Given the description of an element on the screen output the (x, y) to click on. 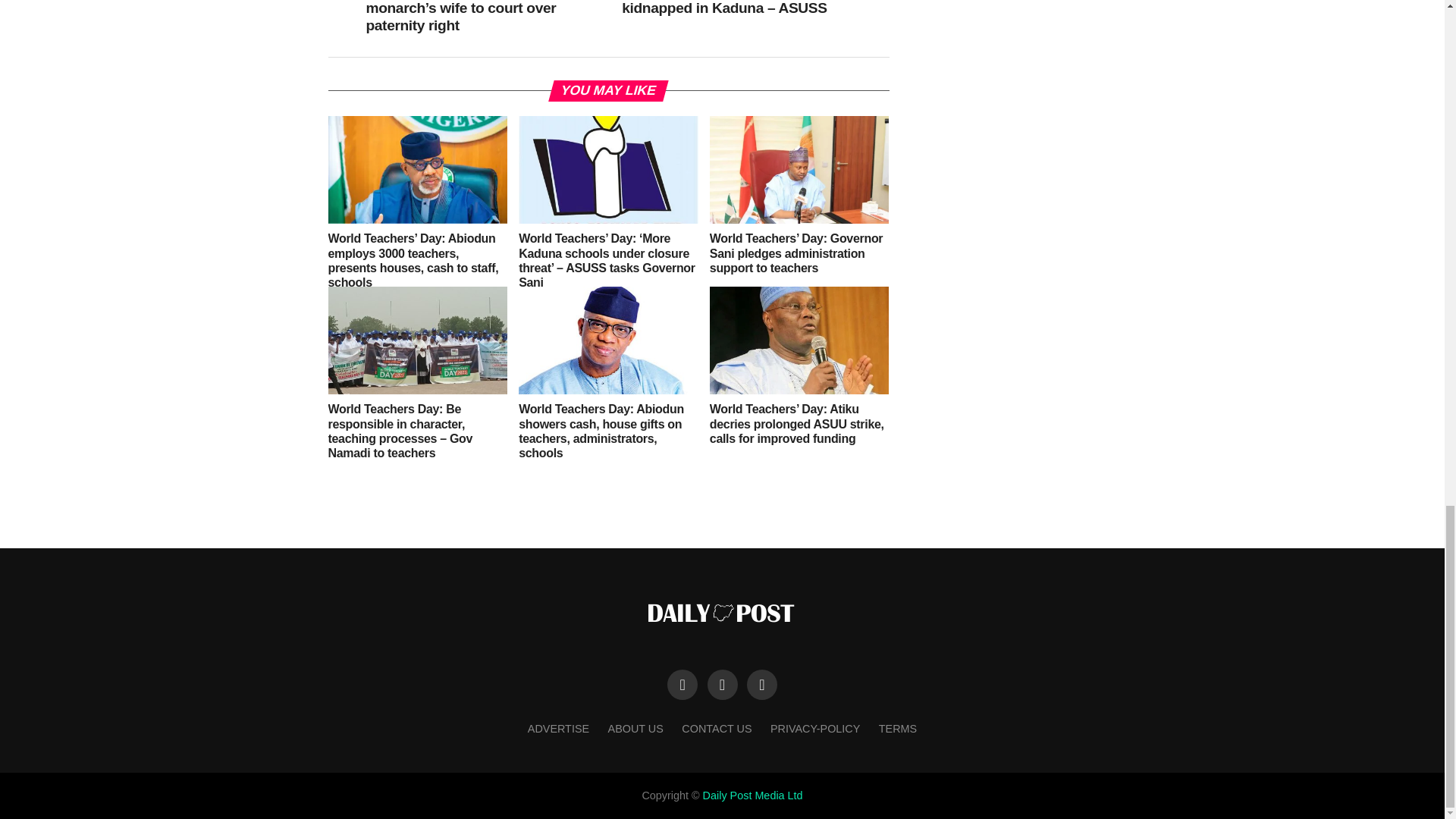
ABOUT US (635, 728)
ADVERTISE (558, 728)
